Given the description of an element on the screen output the (x, y) to click on. 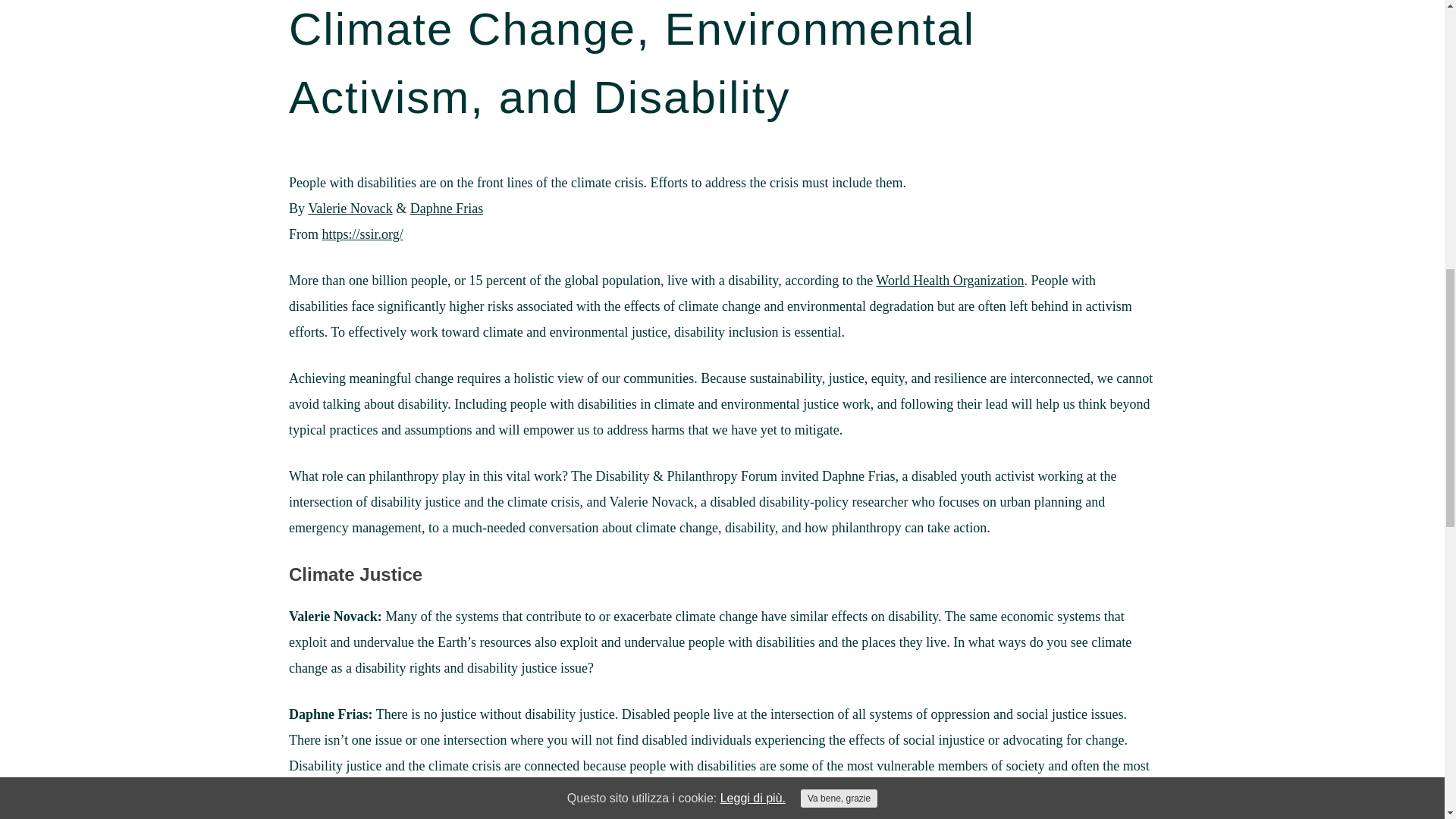
Valerie Novack (349, 208)
Daphne Frias (446, 208)
World Health Organization (949, 280)
